Given the description of an element on the screen output the (x, y) to click on. 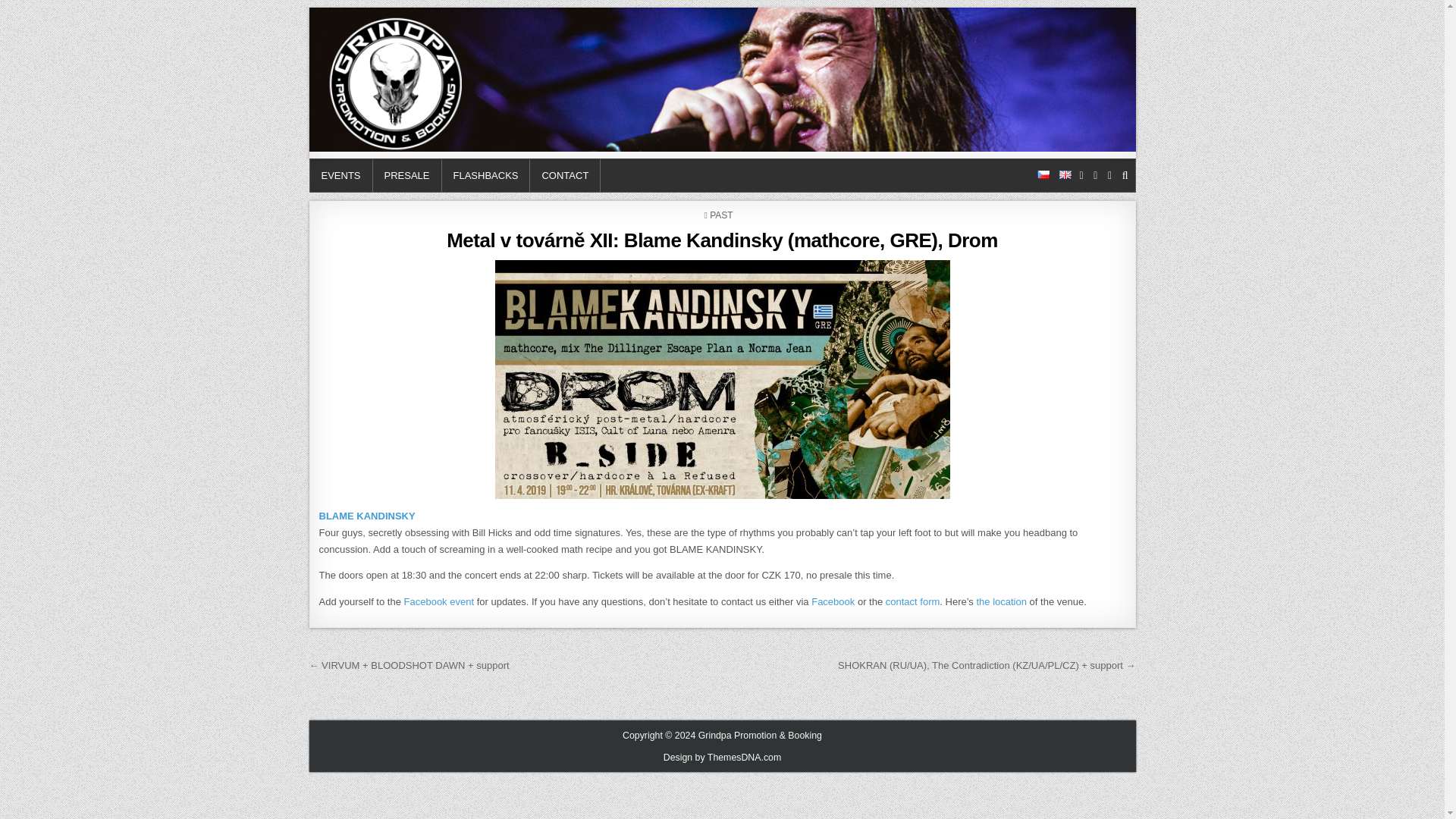
the location (1000, 601)
contact form (912, 601)
BLAME KANDINSKY (366, 515)
PRESALE (407, 174)
English (1065, 174)
Design by ThemesDNA.com (722, 757)
FLASHBACKS (485, 174)
EVENTS (340, 174)
PAST (721, 214)
Facebook event (439, 601)
